Given the description of an element on the screen output the (x, y) to click on. 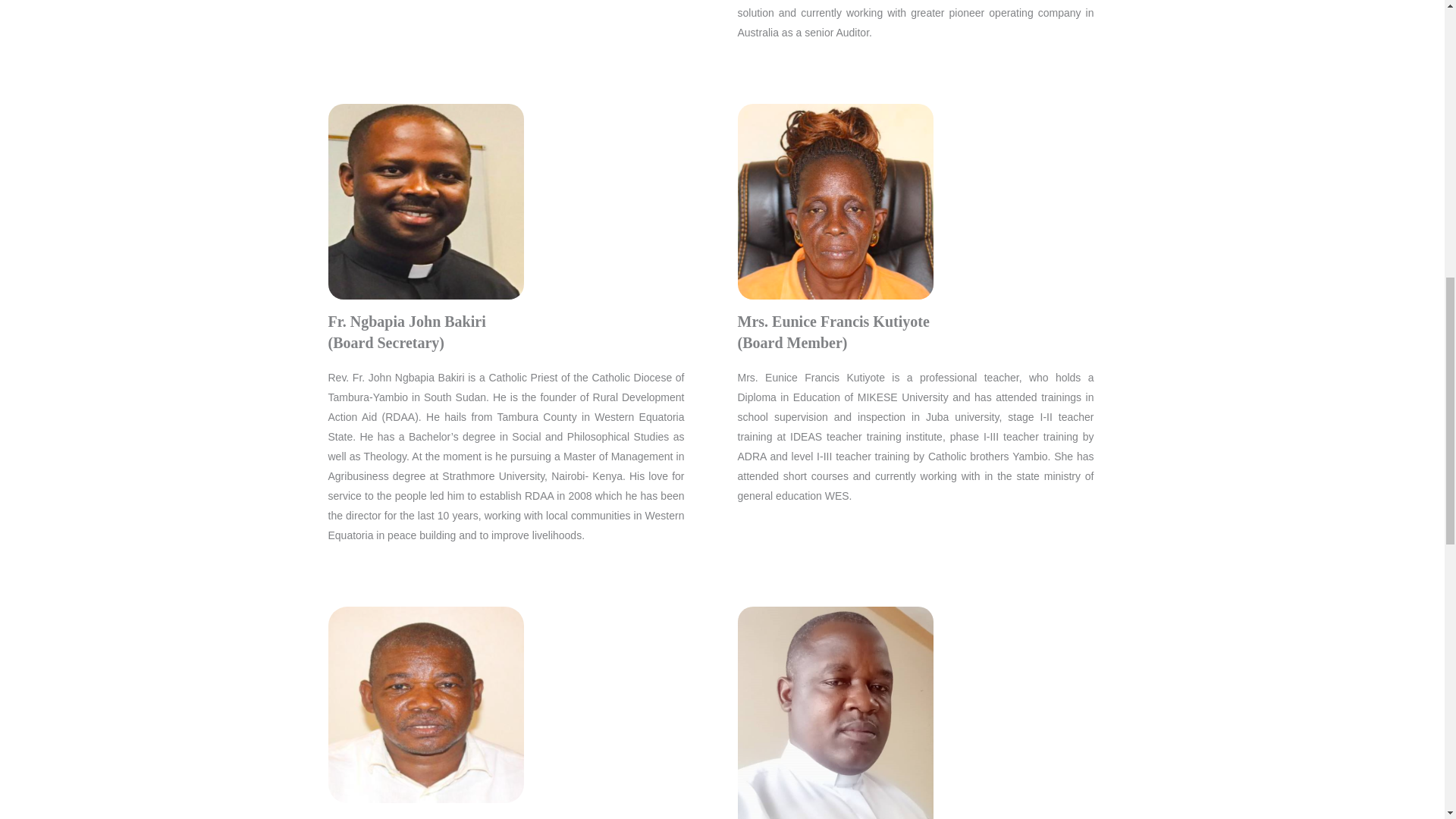
Screenshot 2022-03-05 at 15.57.45 (425, 202)
Fr Raphael (834, 712)
Screenshot 2022-03-05 at 15.57.20 (834, 202)
Screenshot 2022-03-05 at 15.56.51 (425, 704)
